Given the description of an element on the screen output the (x, y) to click on. 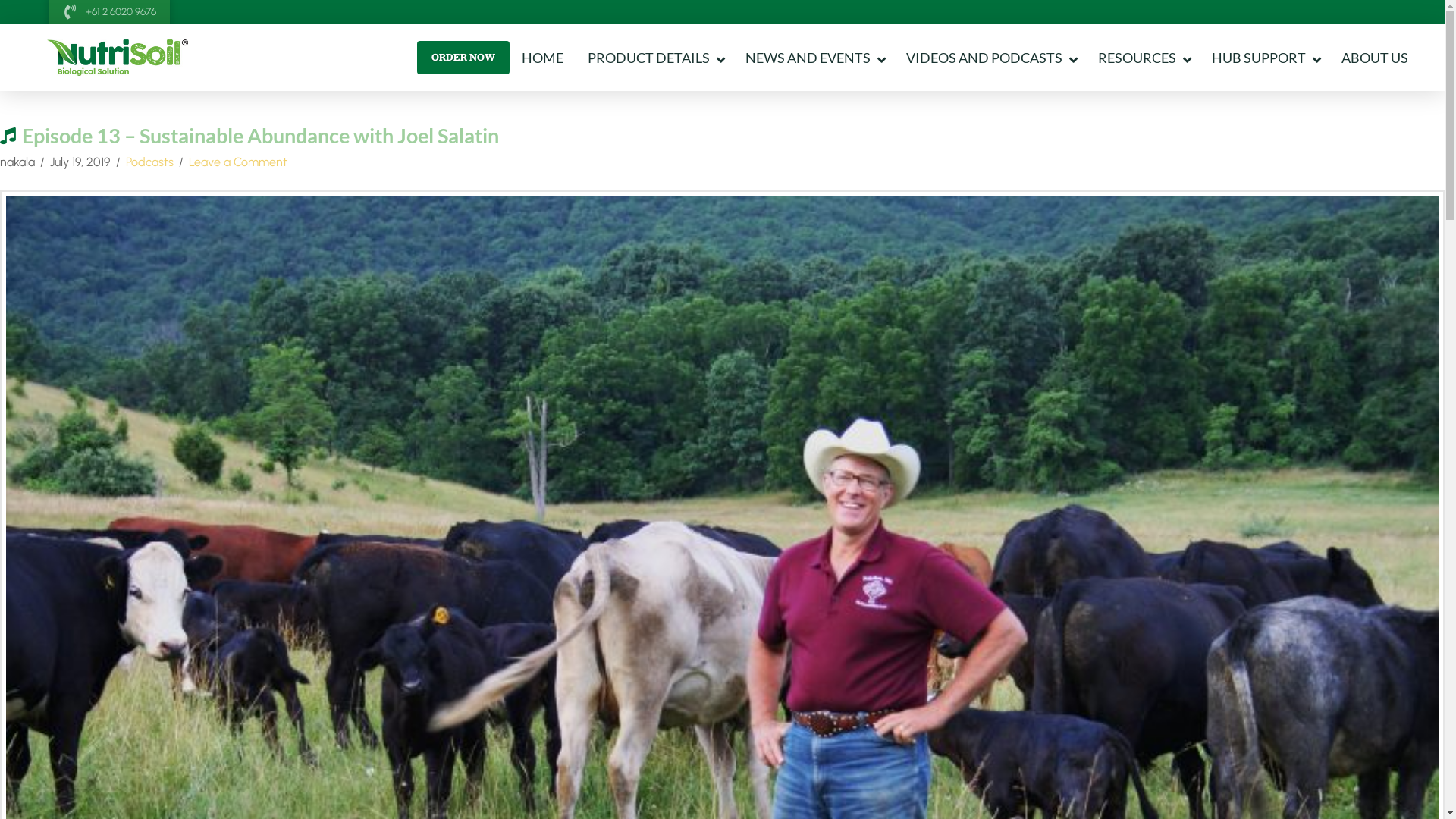
RESOURCES Element type: text (1142, 56)
PRODUCT DETAILS Element type: text (654, 56)
Leave a Comment Element type: text (237, 161)
NEWS AND EVENTS Element type: text (813, 56)
Podcasts Element type: text (149, 161)
VIDEOS AND PODCASTS Element type: text (989, 56)
ORDER NOW Element type: text (463, 57)
HUB SUPPORT Element type: text (1264, 56)
ABOUT US Element type: text (1374, 56)
HOME Element type: text (542, 56)
